Given the description of an element on the screen output the (x, y) to click on. 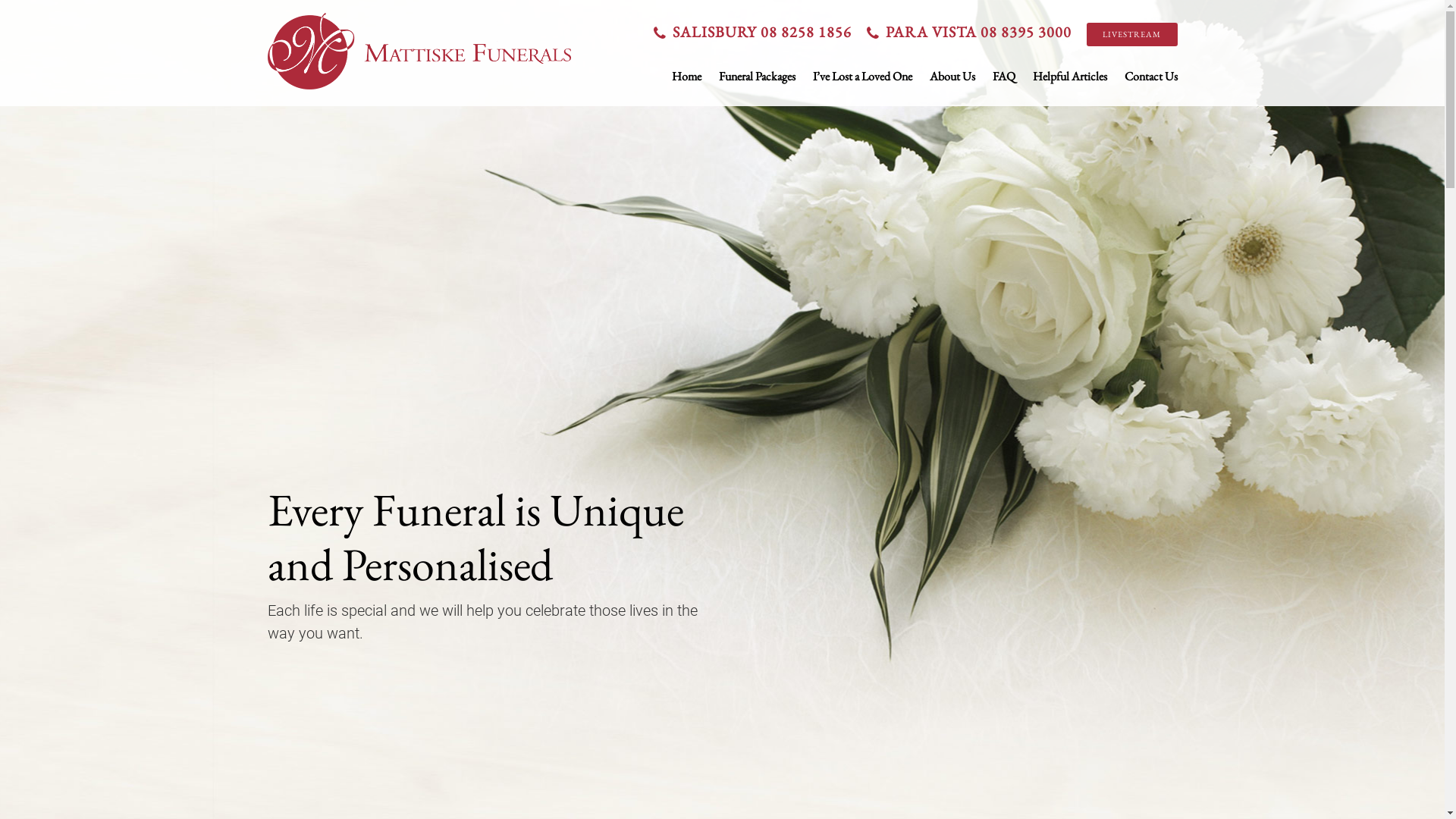
Helpful Articles Element type: text (1069, 76)
FAQ Element type: text (1002, 76)
LIVESTREAM Element type: text (1130, 34)
About Us Element type: text (952, 76)
SALISBURY 08 8258 1856 Element type: text (756, 31)
Contact Us Element type: text (1149, 76)
Funeral Packages Element type: text (756, 76)
PARA VISTA 08 8395 3000 Element type: text (972, 31)
Home Element type: text (686, 76)
